Given the description of an element on the screen output the (x, y) to click on. 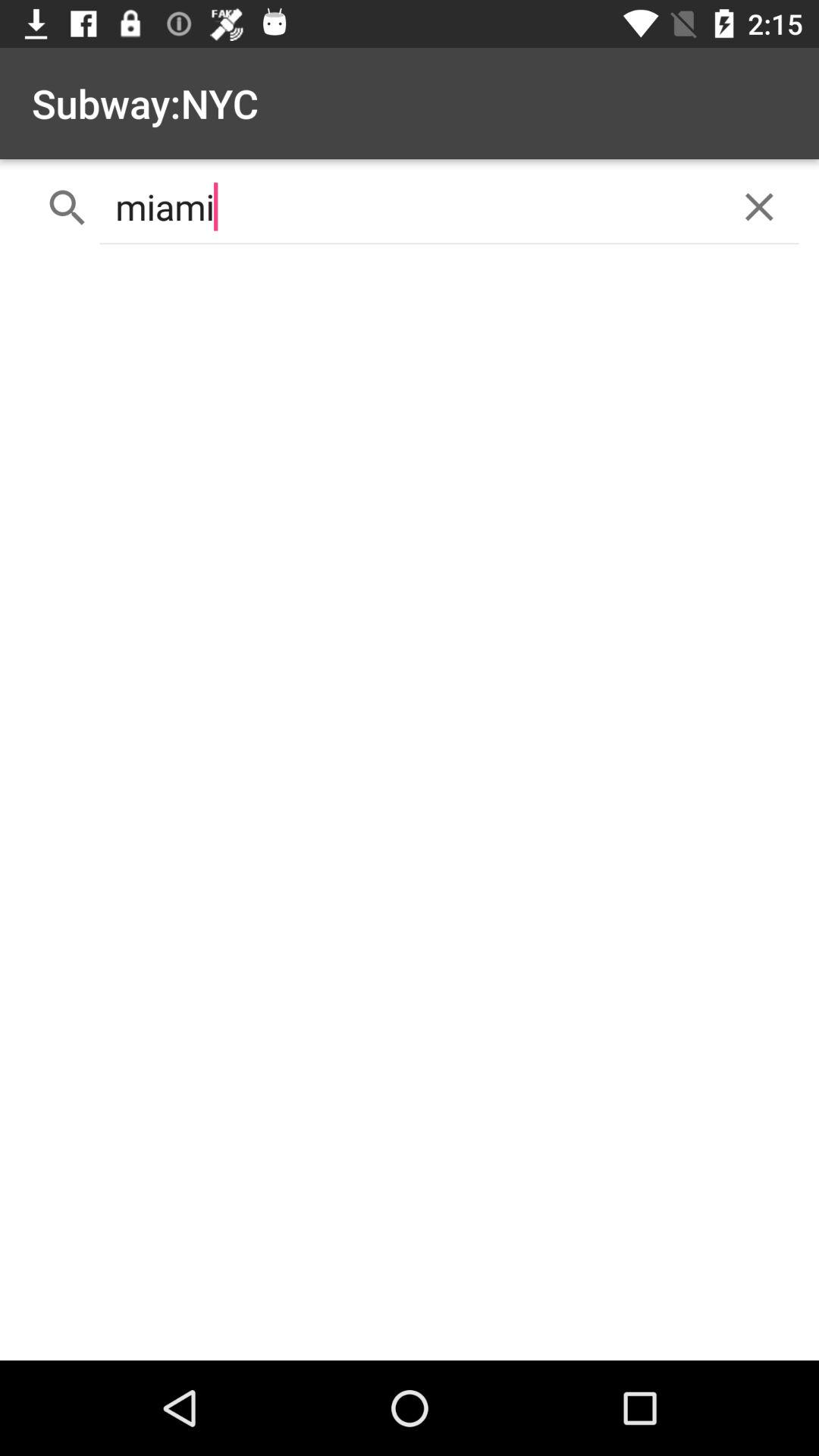
open the item below miami icon (409, 808)
